Given the description of an element on the screen output the (x, y) to click on. 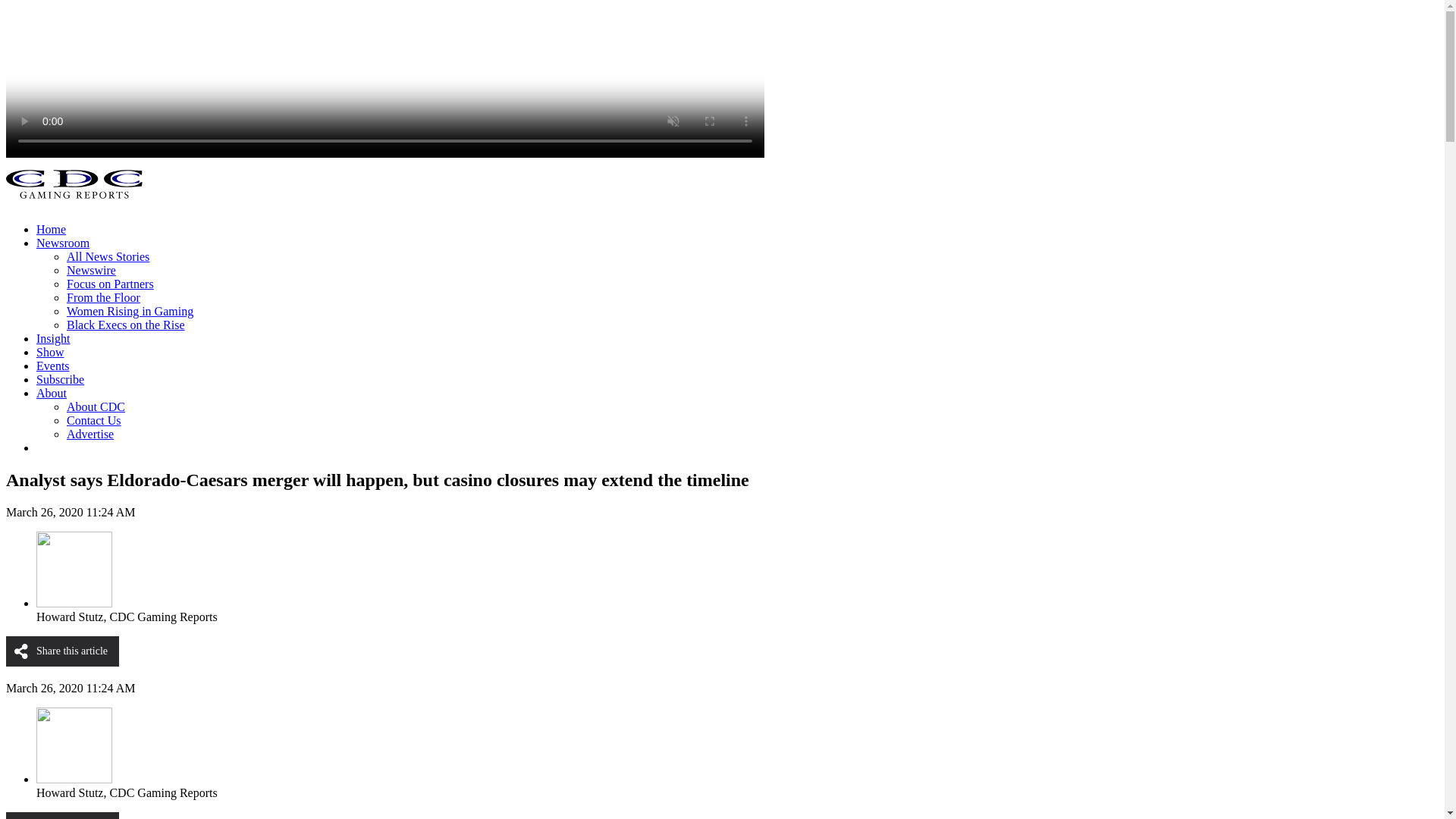
Women Rising in Gaming (129, 310)
Focus on Partners (110, 283)
From the Floor (102, 297)
Contact Us (93, 420)
Share this article (62, 815)
Advertise (89, 433)
About CDC (95, 406)
Insight (52, 338)
All News Stories (107, 256)
Subscribe (60, 379)
Newsroom (62, 242)
Black Execs on the Rise (125, 324)
Newswire (91, 269)
Events (52, 365)
Share this article (62, 651)
